Given the description of an element on the screen output the (x, y) to click on. 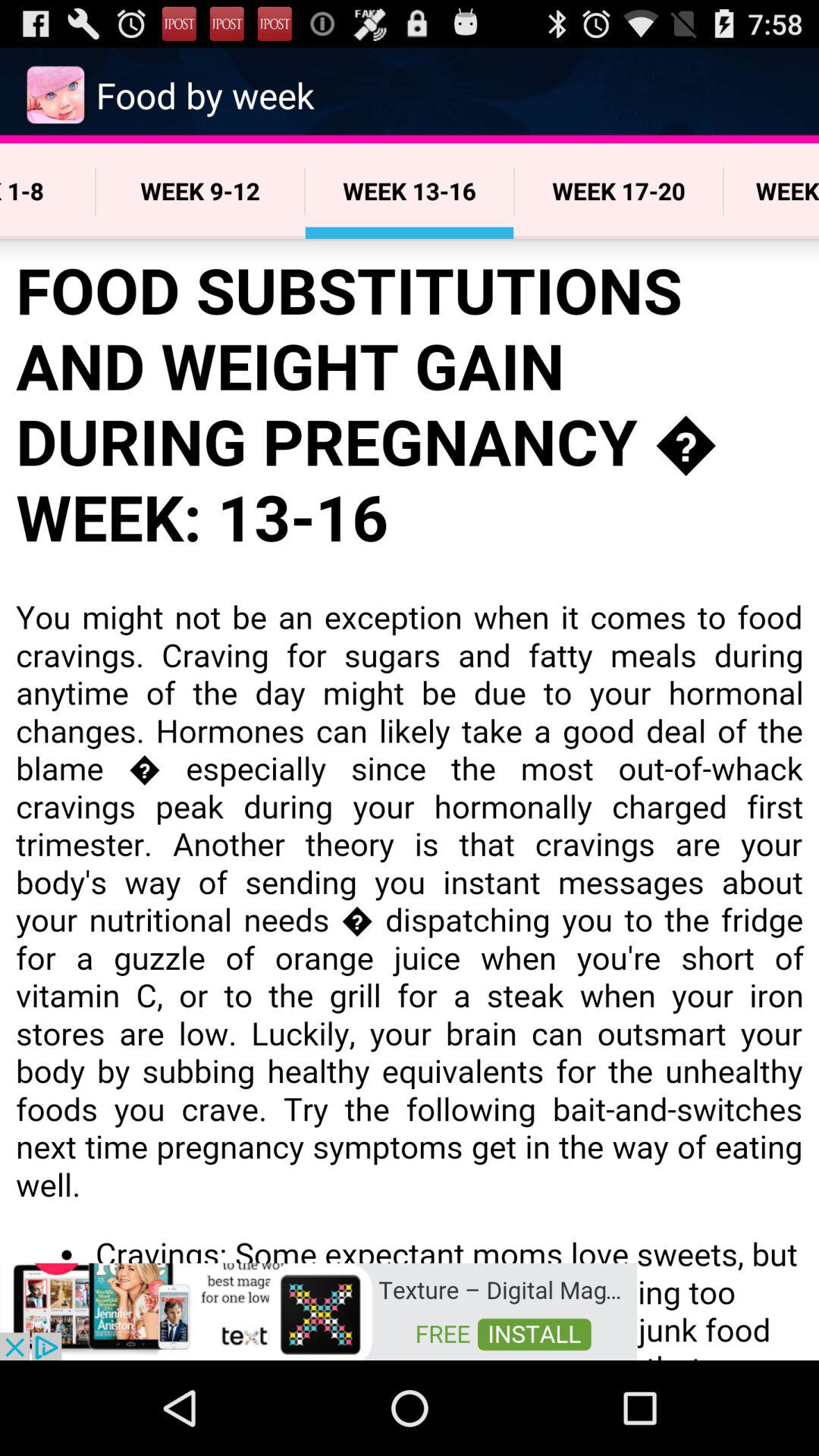
advertisement link (318, 1310)
